Given the description of an element on the screen output the (x, y) to click on. 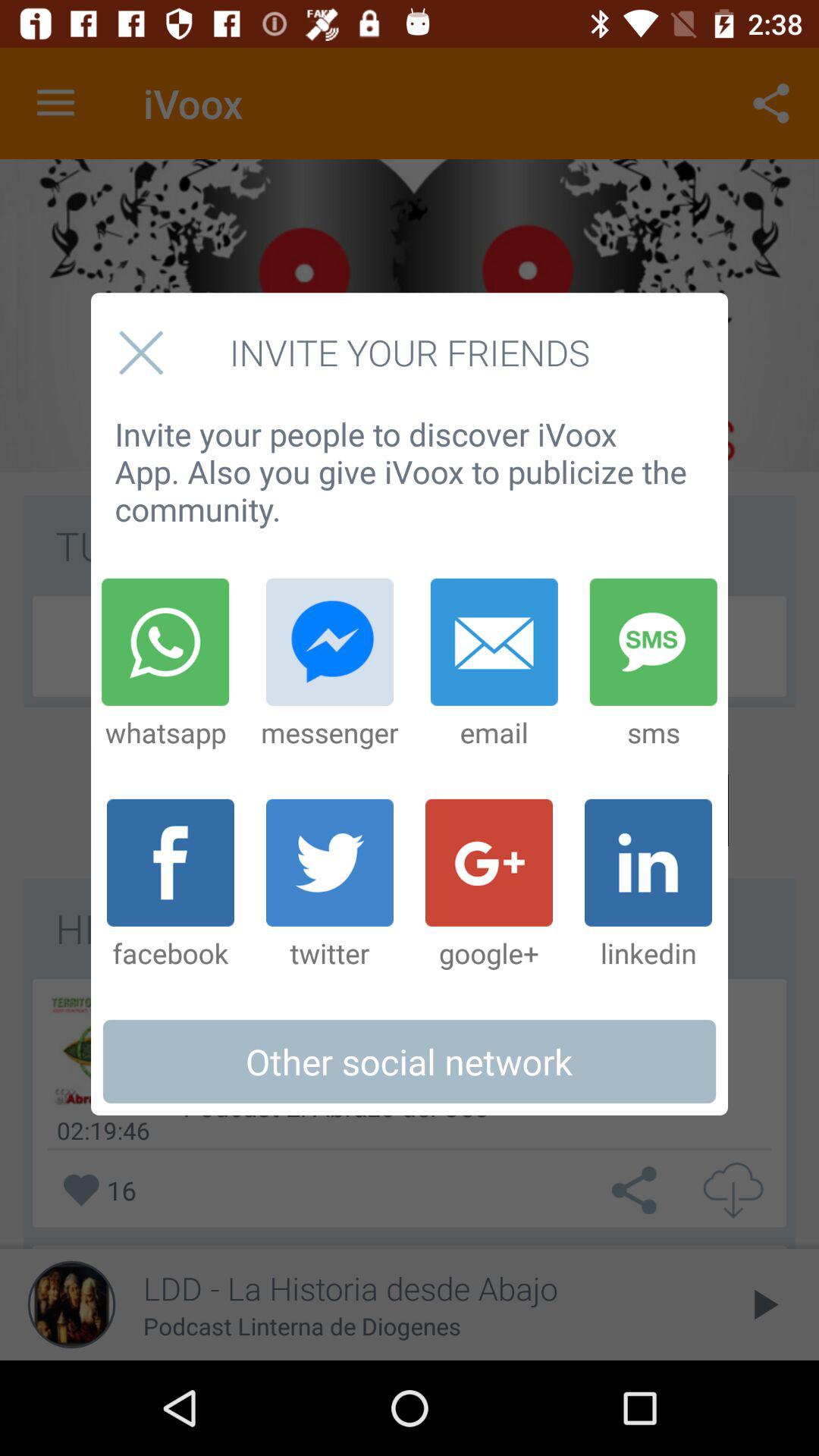
tap linkedin item (648, 885)
